Given the description of an element on the screen output the (x, y) to click on. 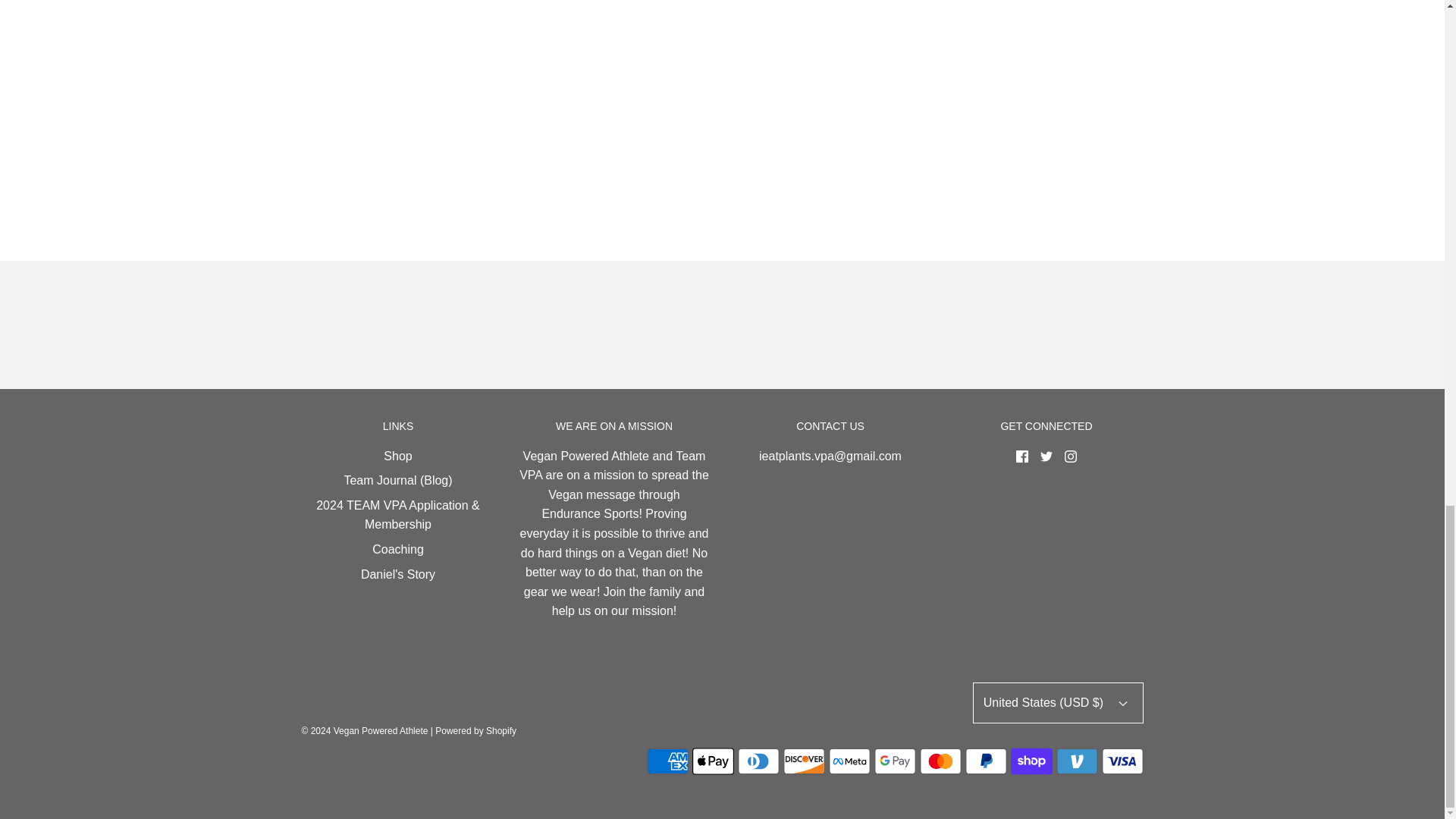
Apple Pay (712, 761)
Twitter icon (1046, 456)
Meta Pay (848, 761)
Discover (803, 761)
American Express (666, 761)
PayPal (984, 761)
Facebook icon (1021, 456)
Instagram icon (1070, 456)
Diners Club (757, 761)
Mastercard (939, 761)
Google Pay (894, 761)
